Given the description of an element on the screen output the (x, y) to click on. 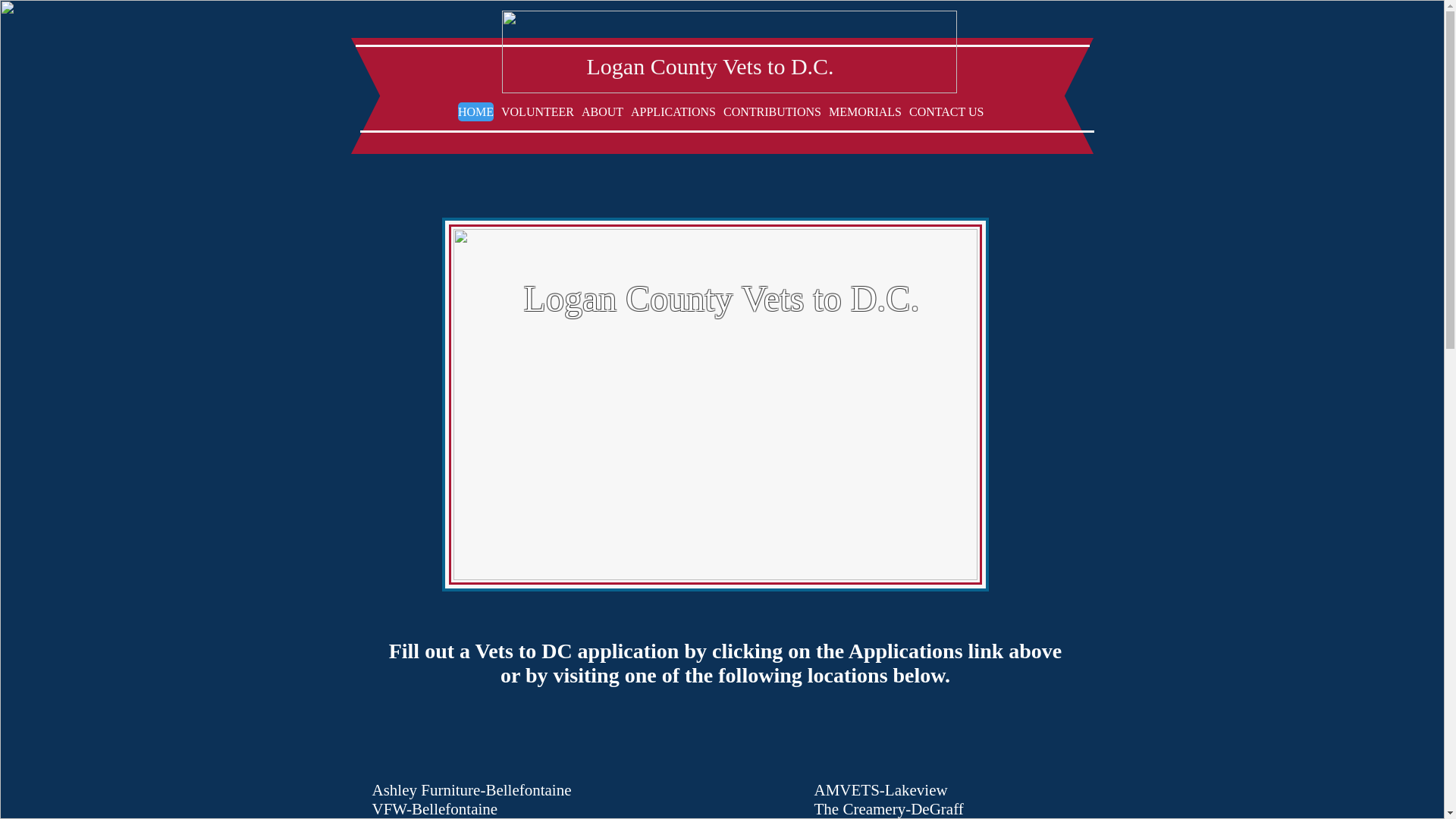
APPLICATIONS (673, 111)
VOLUNTEER (536, 111)
ABOUT (601, 111)
MEMORIALS (864, 111)
CONTACT US (946, 111)
HOME (475, 111)
CONTRIBUTIONS (772, 111)
